Given the description of an element on the screen output the (x, y) to click on. 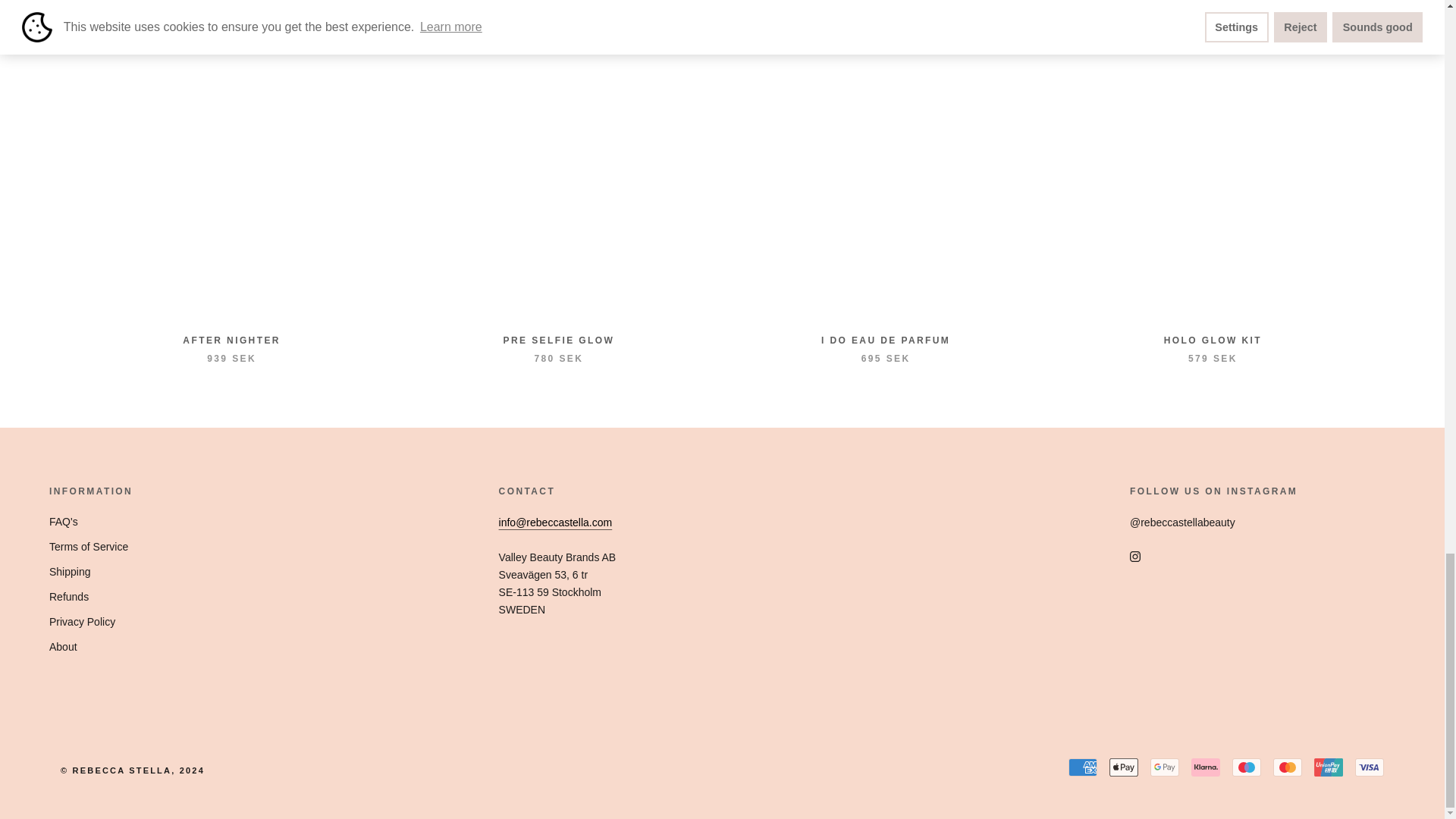
American Express (1082, 767)
